Given the description of an element on the screen output the (x, y) to click on. 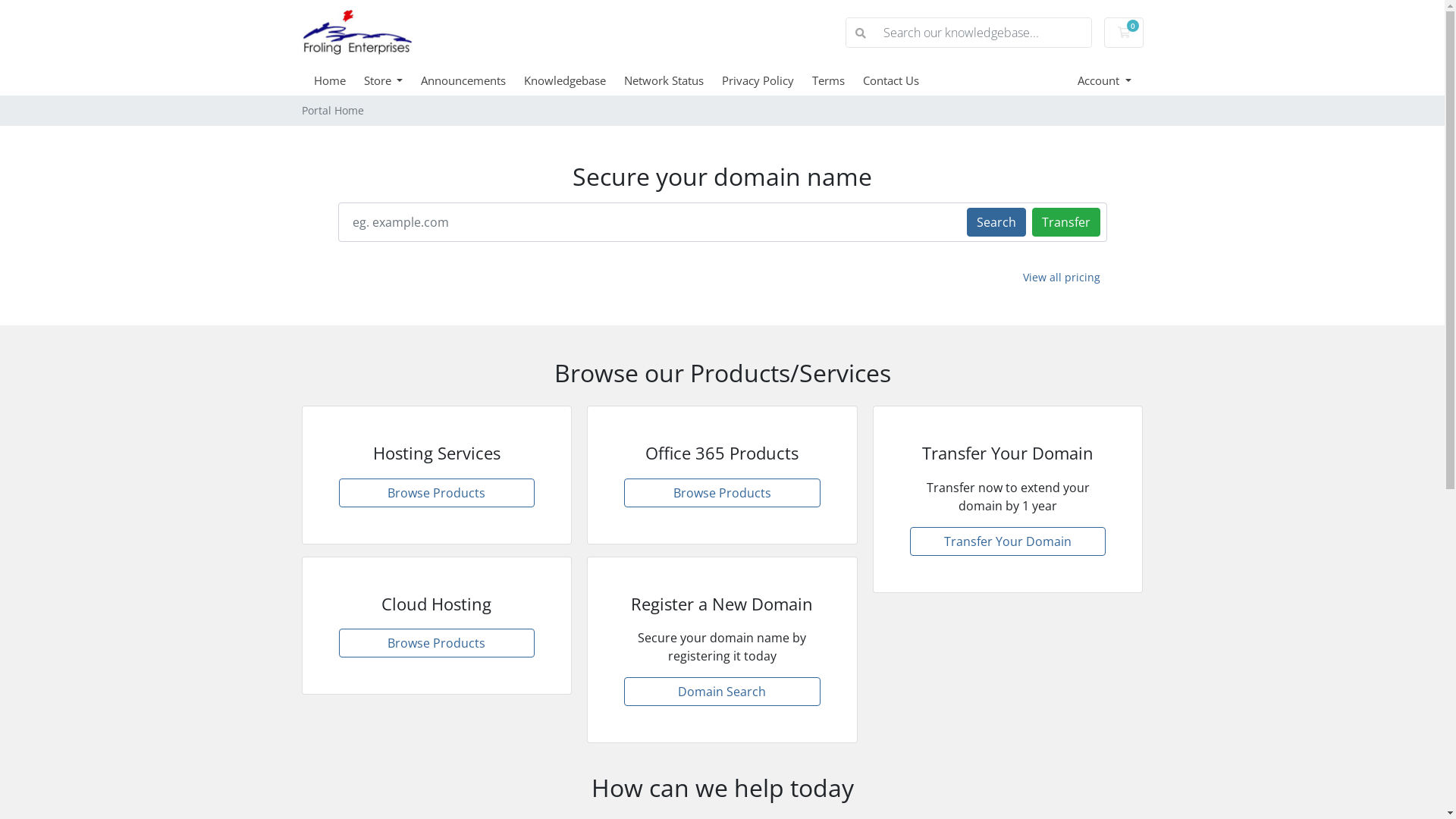
Contact Us Element type: text (899, 79)
Store Element type: text (392, 79)
Knowledgebase Element type: text (574, 79)
Browse Products Element type: text (722, 492)
View all pricing Element type: text (1061, 276)
Transfer Element type: text (1065, 221)
Announcements Element type: text (472, 79)
Transfer Your Domain Element type: text (1008, 541)
Account Element type: text (1104, 79)
Privacy Policy Element type: text (766, 79)
Domain Search Element type: text (722, 691)
Browse Products Element type: text (436, 642)
Search Element type: text (995, 221)
Network Status Element type: text (672, 79)
Terms Element type: text (837, 79)
Browse Products Element type: text (436, 492)
Home Element type: text (338, 79)
0
Shopping Cart Element type: text (1123, 32)
